Given the description of an element on the screen output the (x, y) to click on. 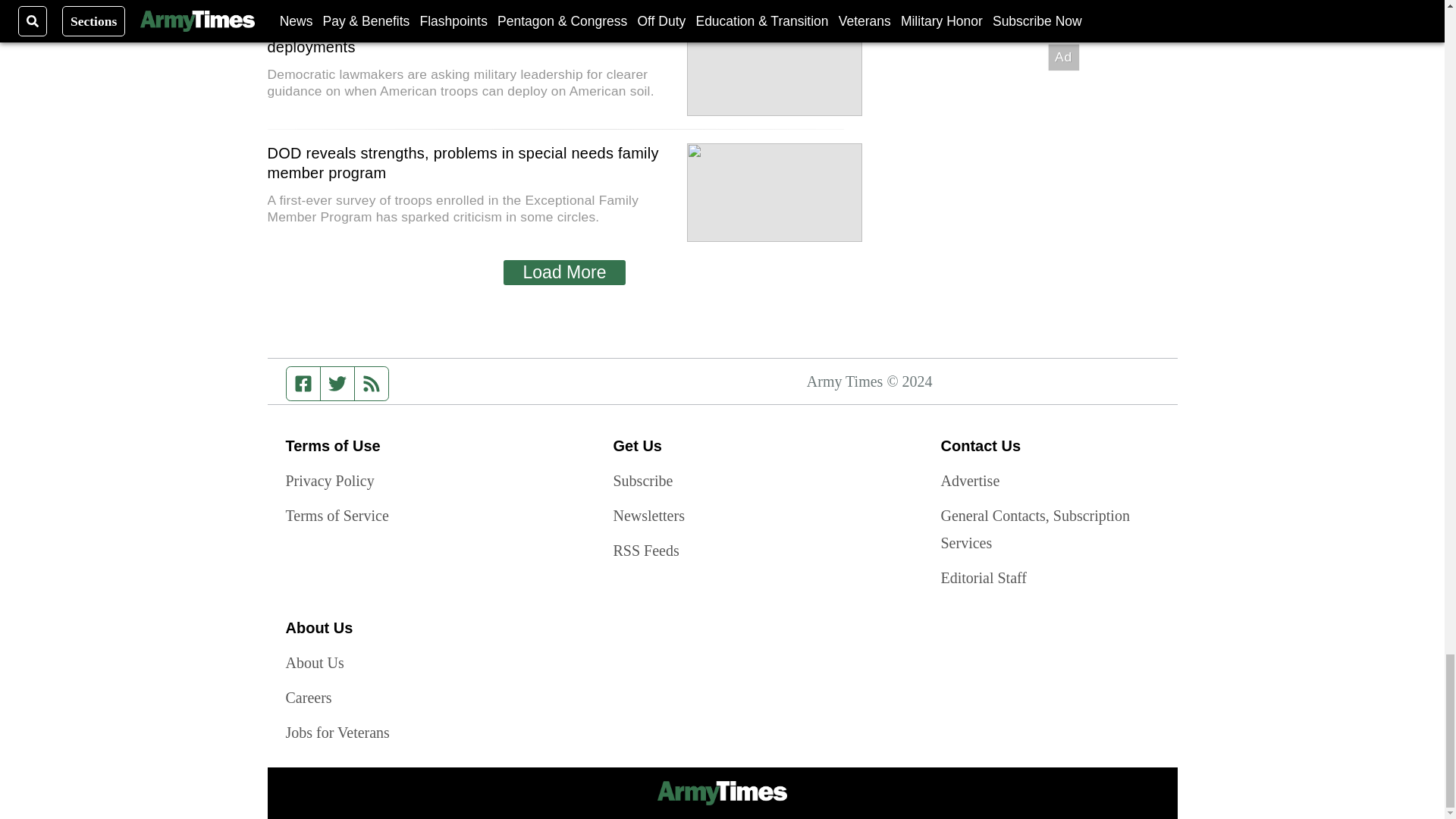
RSS feed (371, 382)
Facebook page (303, 382)
Twitter feed (336, 382)
